Given the description of an element on the screen output the (x, y) to click on. 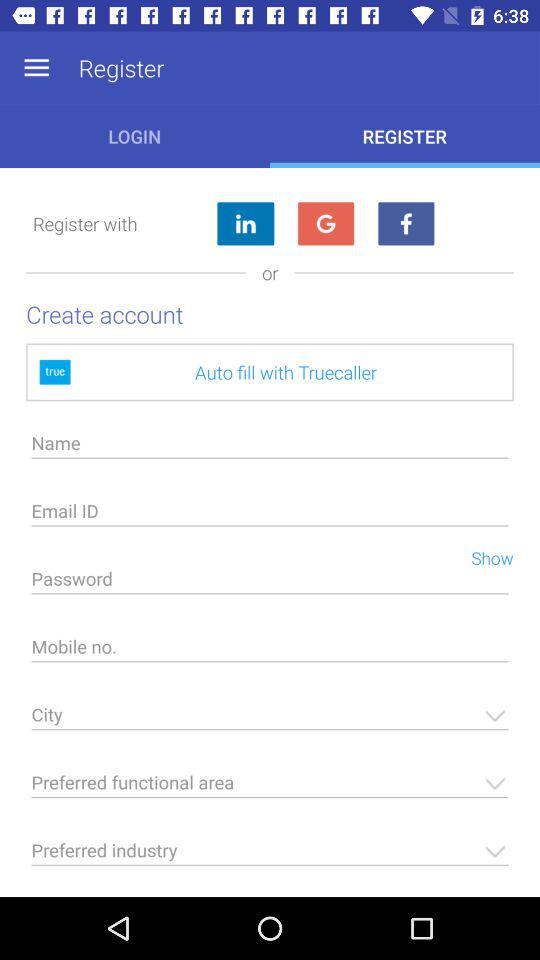
insert email id (269, 516)
